Given the description of an element on the screen output the (x, y) to click on. 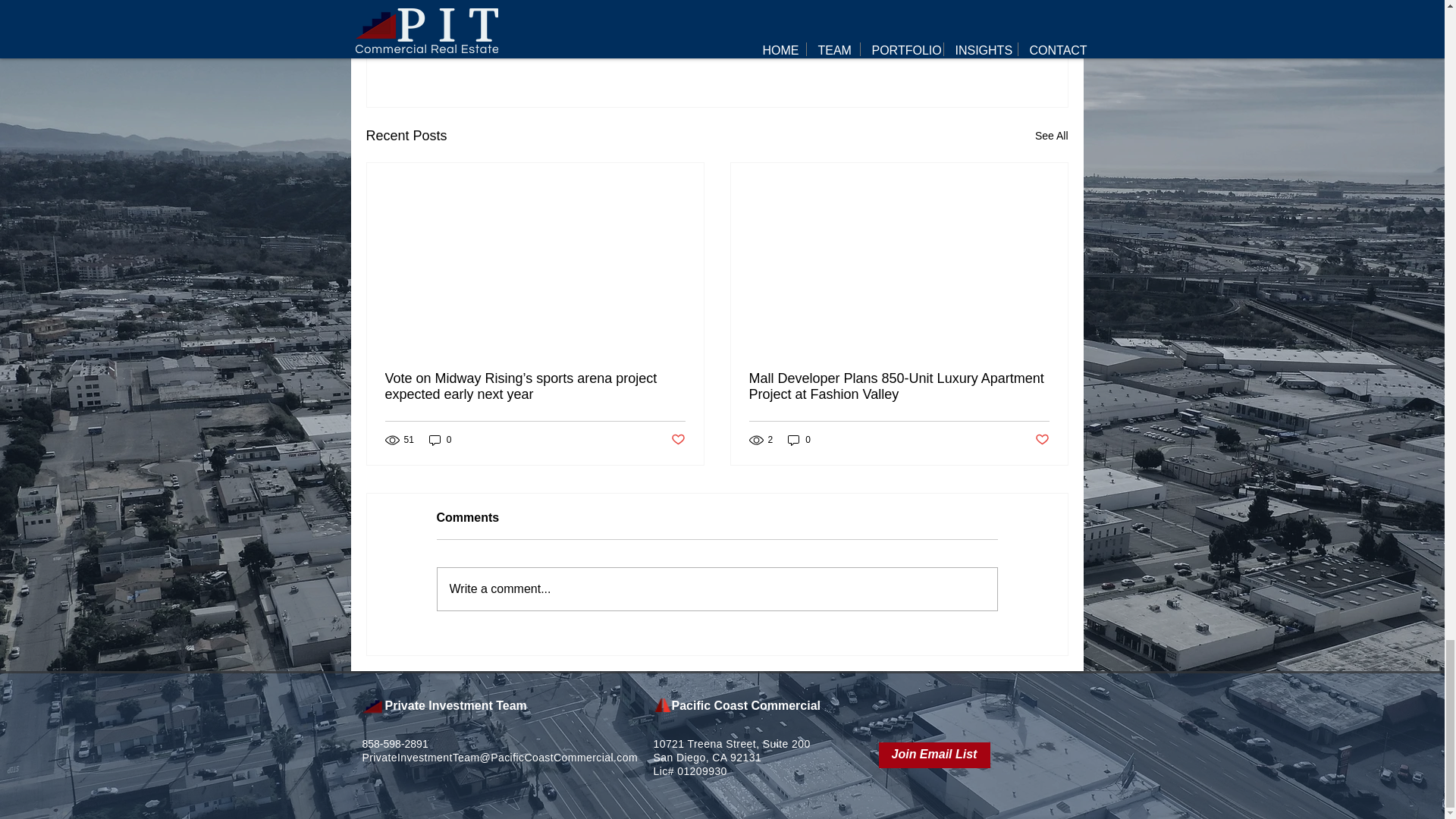
0 (440, 440)
See All (985, 52)
Post not marked as liked (1051, 136)
